Given the description of an element on the screen output the (x, y) to click on. 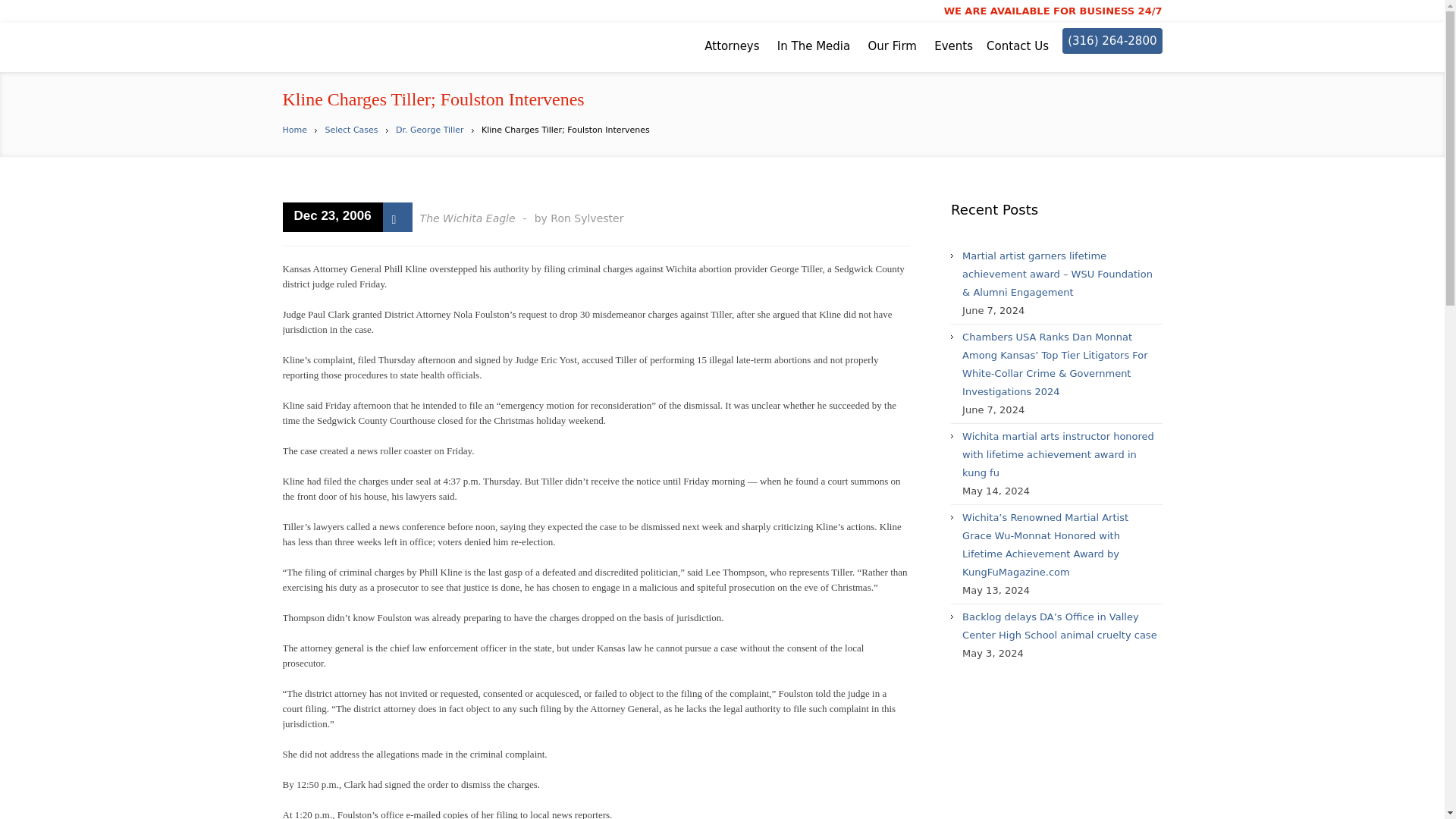
Dr. George Tiller (429, 130)
Attorneys (731, 46)
Select Cases (350, 130)
In The Media (813, 46)
Events (953, 46)
Contact Us (1017, 46)
Home (293, 130)
Our Firm (891, 46)
